Given the description of an element on the screen output the (x, y) to click on. 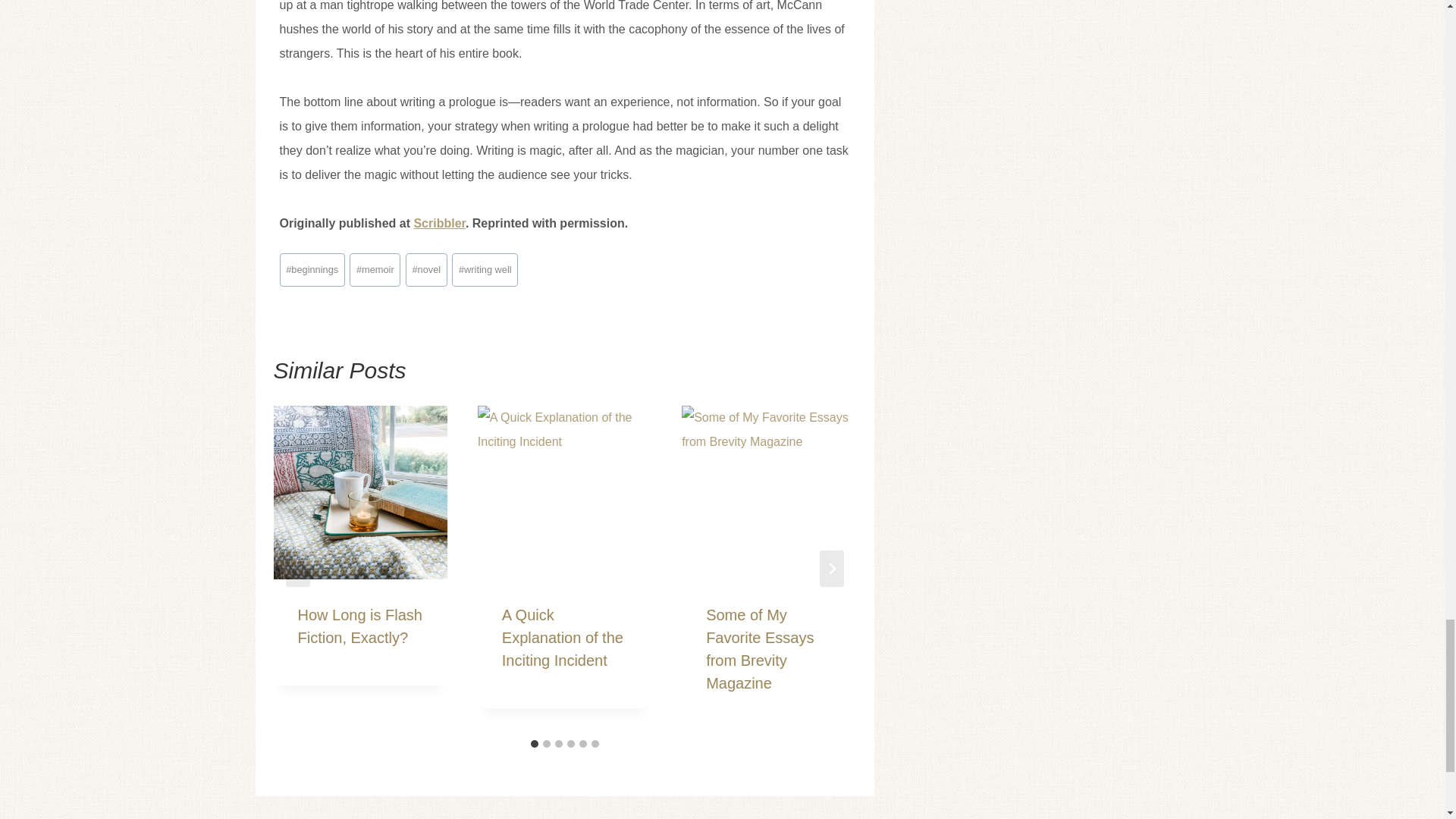
memoir (374, 269)
novel (426, 269)
Scribbler (438, 223)
beginnings (311, 269)
writing well (484, 269)
